Given the description of an element on the screen output the (x, y) to click on. 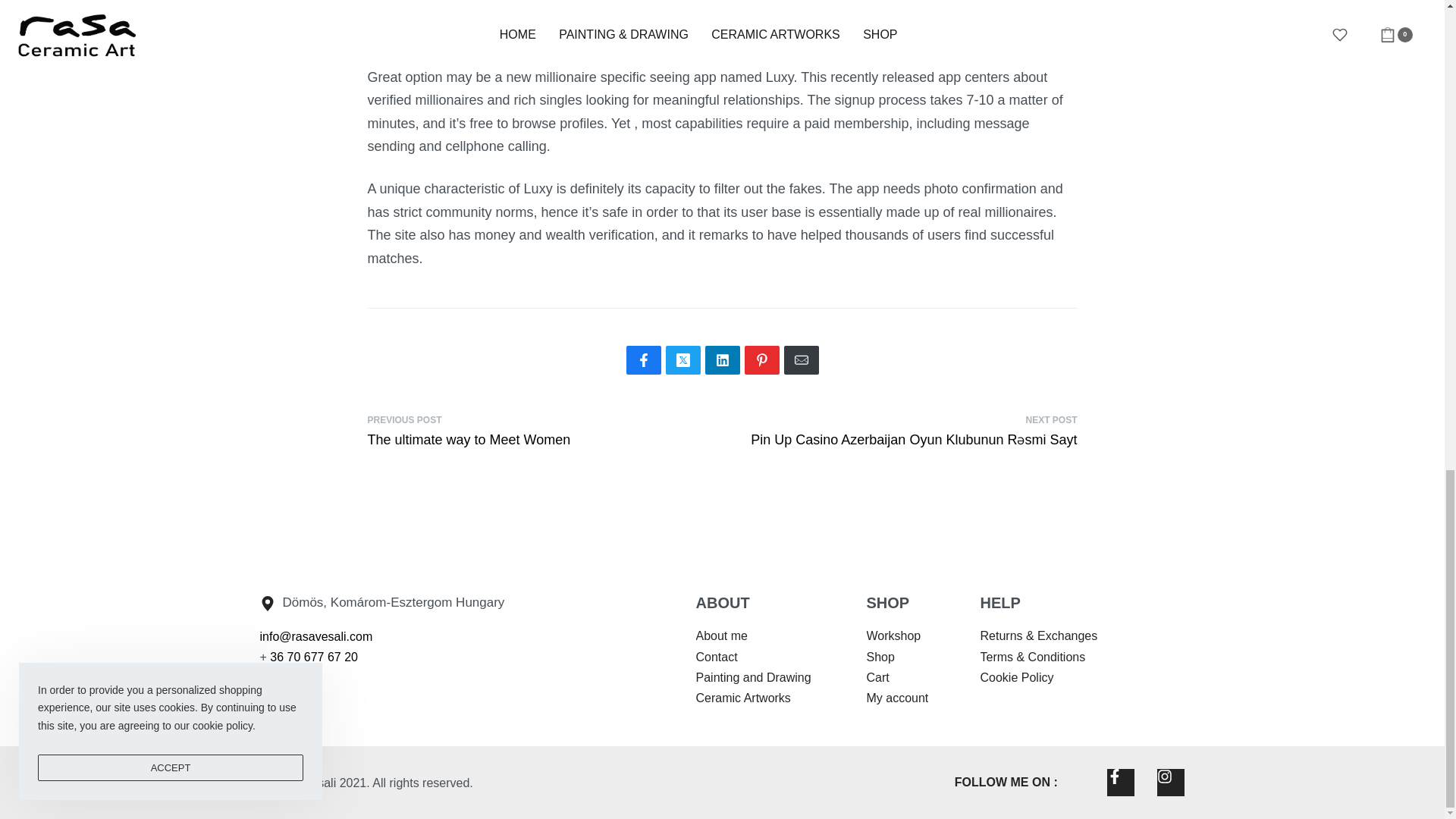
My account (897, 697)
Painting and Drawing (752, 677)
Shop (879, 657)
Contact (716, 657)
About me (721, 635)
Ceramic Artworks (742, 697)
Cart (877, 677)
Workshop (893, 635)
Cookie Policy (1015, 677)
36 70 677 67 20 (544, 428)
